Given the description of an element on the screen output the (x, y) to click on. 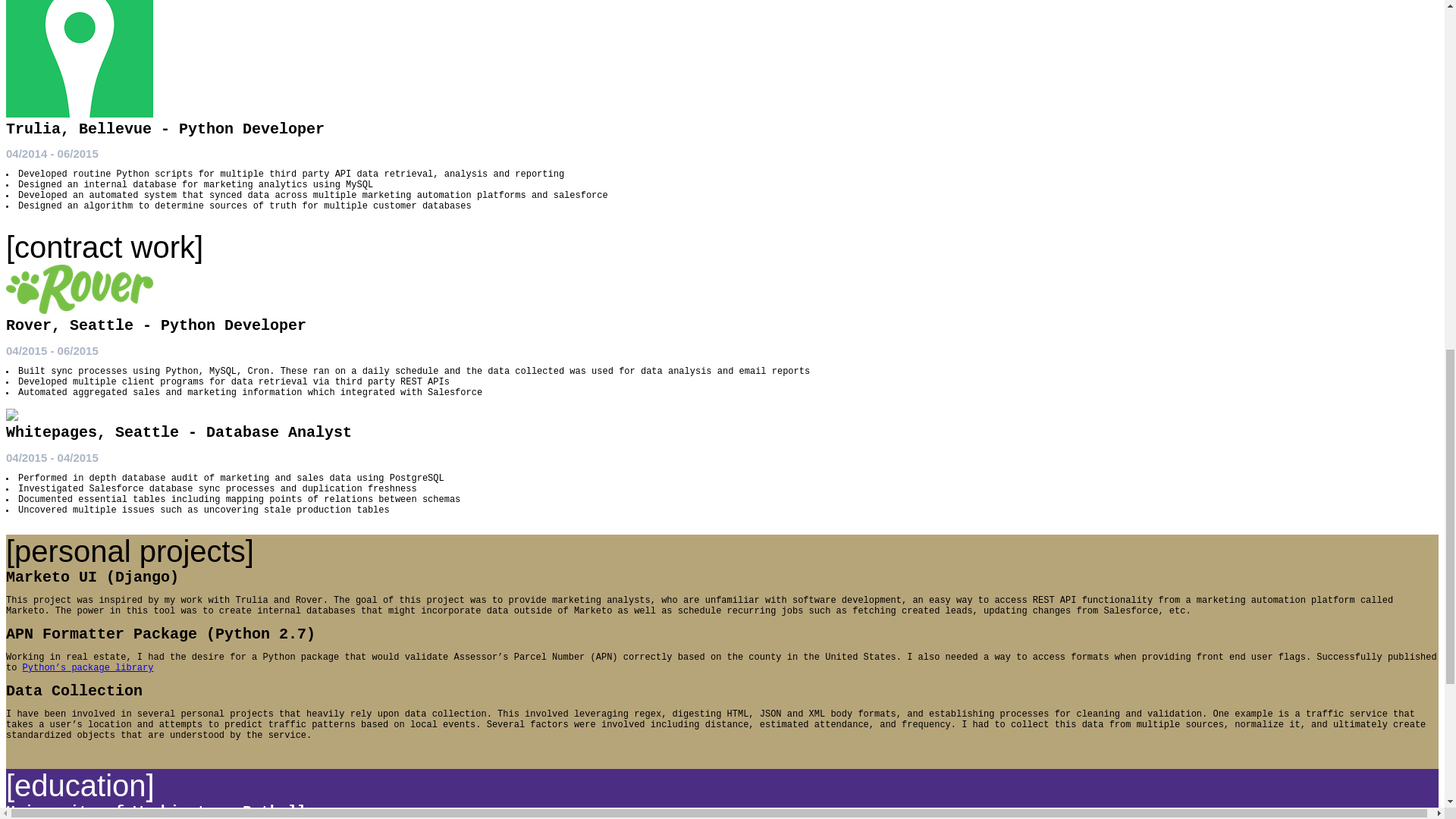
Trulia, Bellevue - Python Developer (164, 129)
Whitepages, Seattle - Database Analyst (178, 432)
University of Washington, Bothell (155, 811)
Data Collection (73, 691)
Rover, Seattle - Python Developer (155, 325)
